Given the description of an element on the screen output the (x, y) to click on. 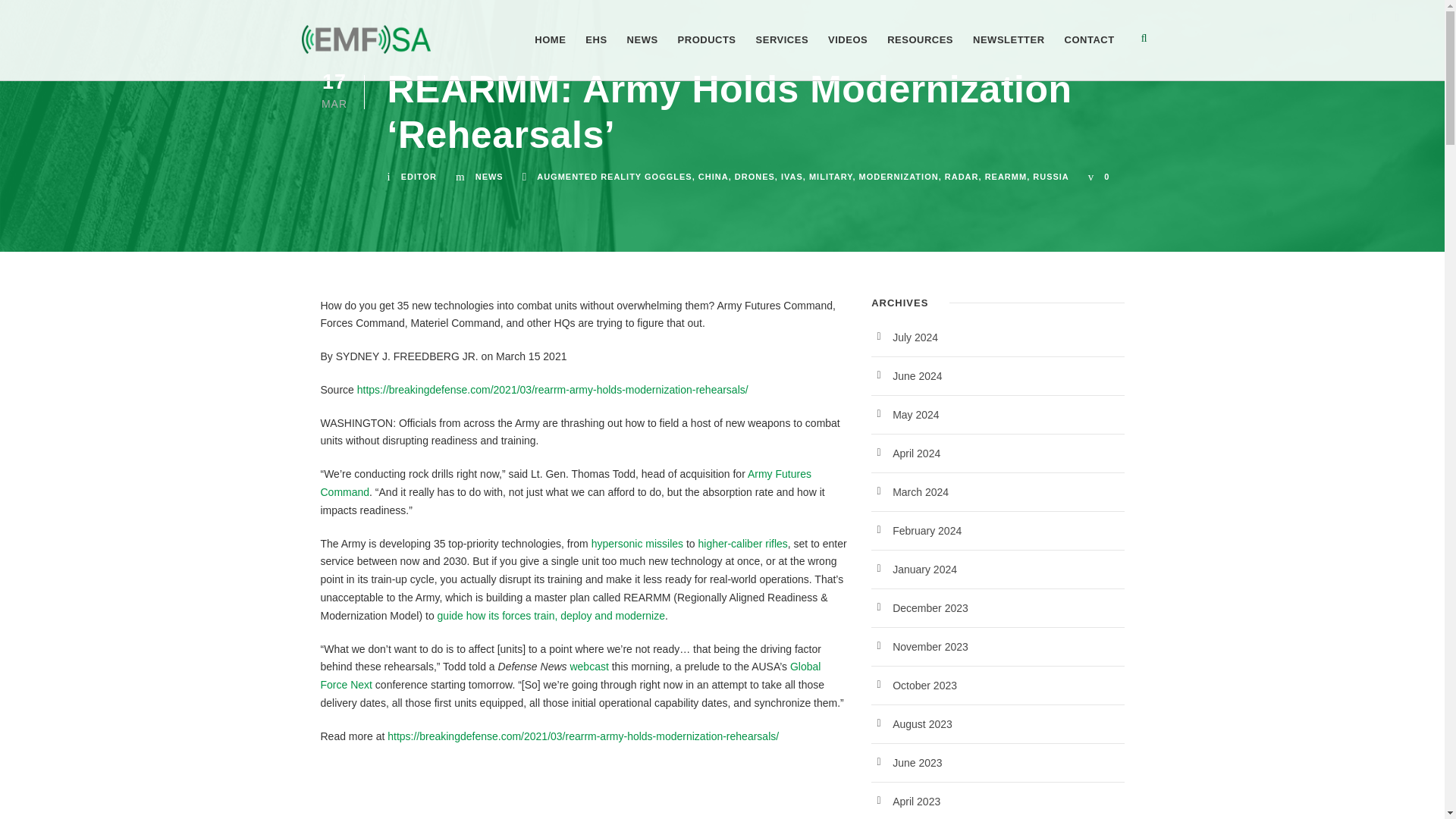
EMFSA logo (365, 39)
SERVICES (782, 55)
Posts by Editor (418, 175)
PRODUCTS (707, 55)
